Given the description of an element on the screen output the (x, y) to click on. 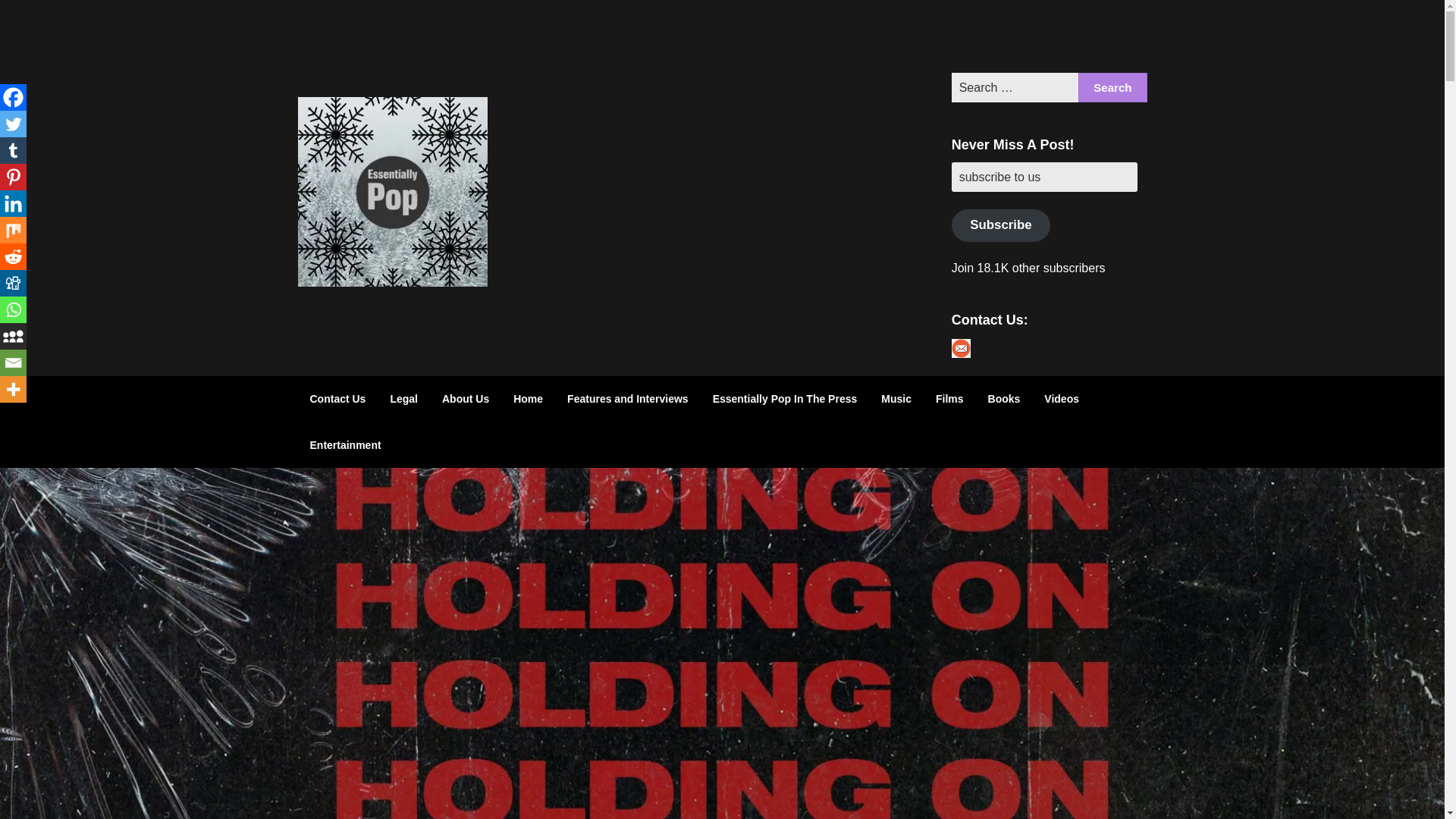
Reddit (13, 256)
Features and Interviews (627, 398)
Twitter (970, 36)
More (13, 388)
Legal (403, 398)
Entertainment (345, 444)
Contact Us (337, 398)
Search (1112, 87)
About Us (464, 398)
Facebook (1009, 36)
